Given the description of an element on the screen output the (x, y) to click on. 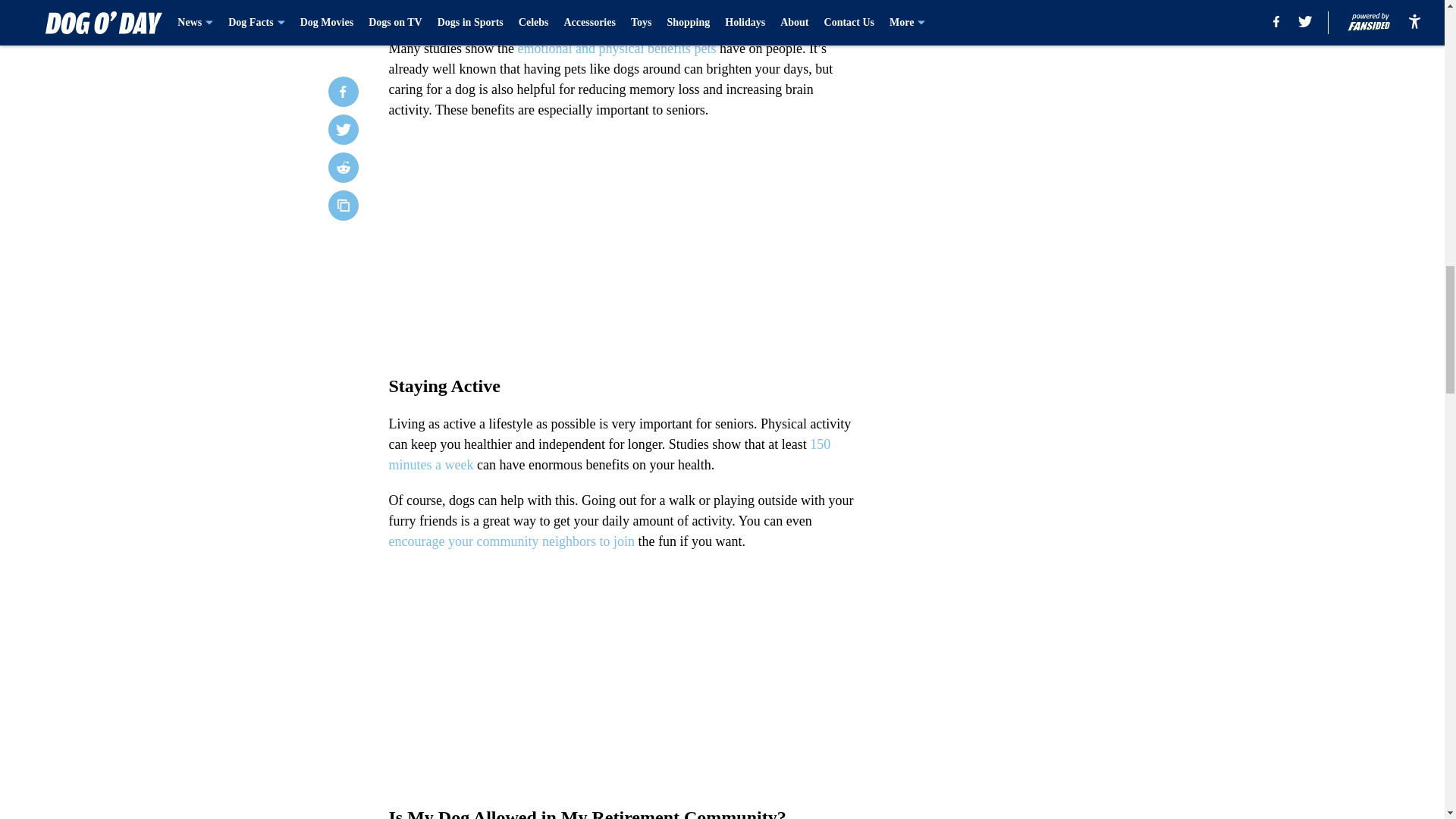
150 minutes a week (608, 454)
emotional and physical benefits pets (616, 48)
encourage your community neighbors to join (510, 540)
